Given the description of an element on the screen output the (x, y) to click on. 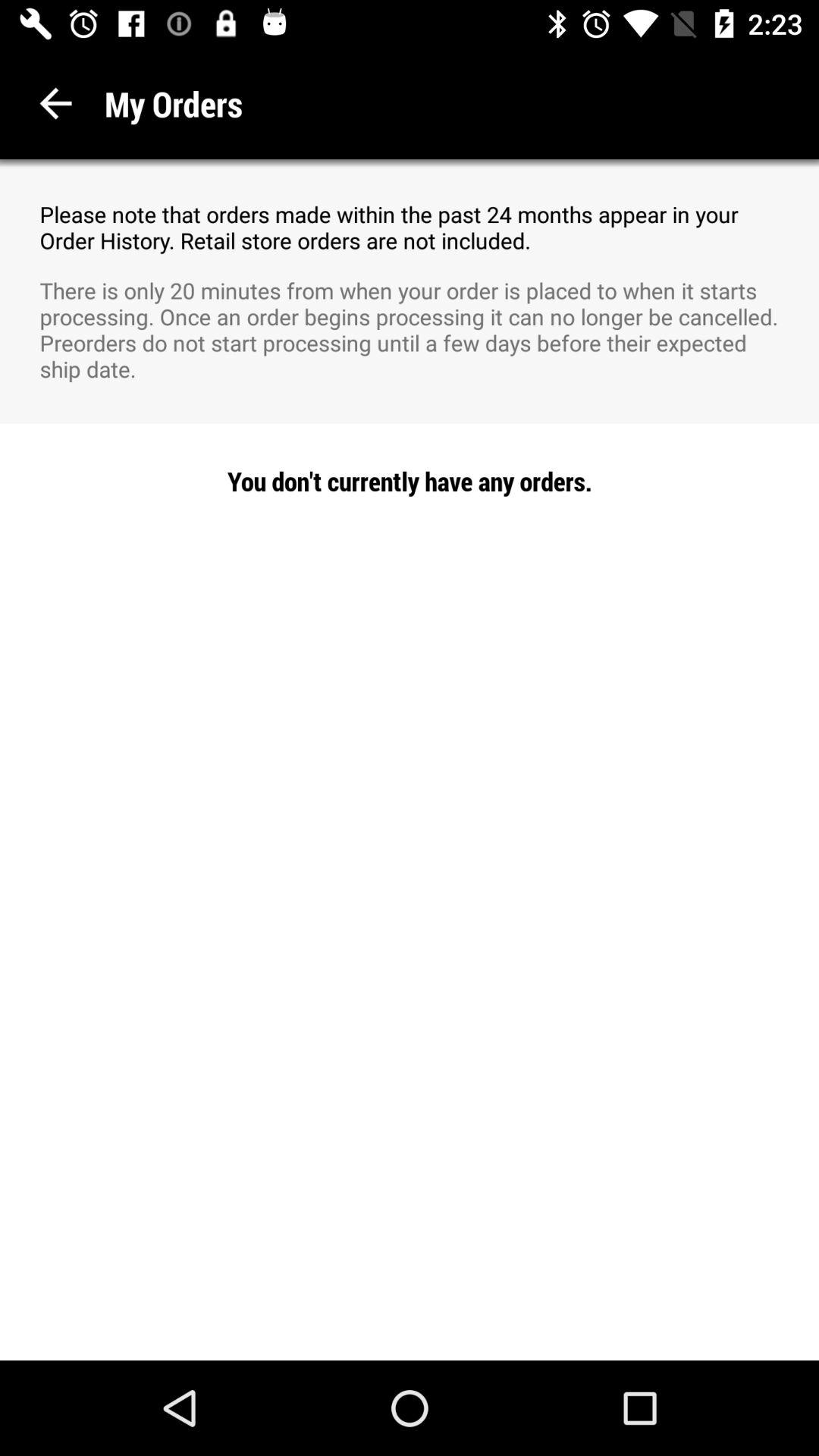
turn off the item to the left of the my orders item (55, 103)
